Given the description of an element on the screen output the (x, y) to click on. 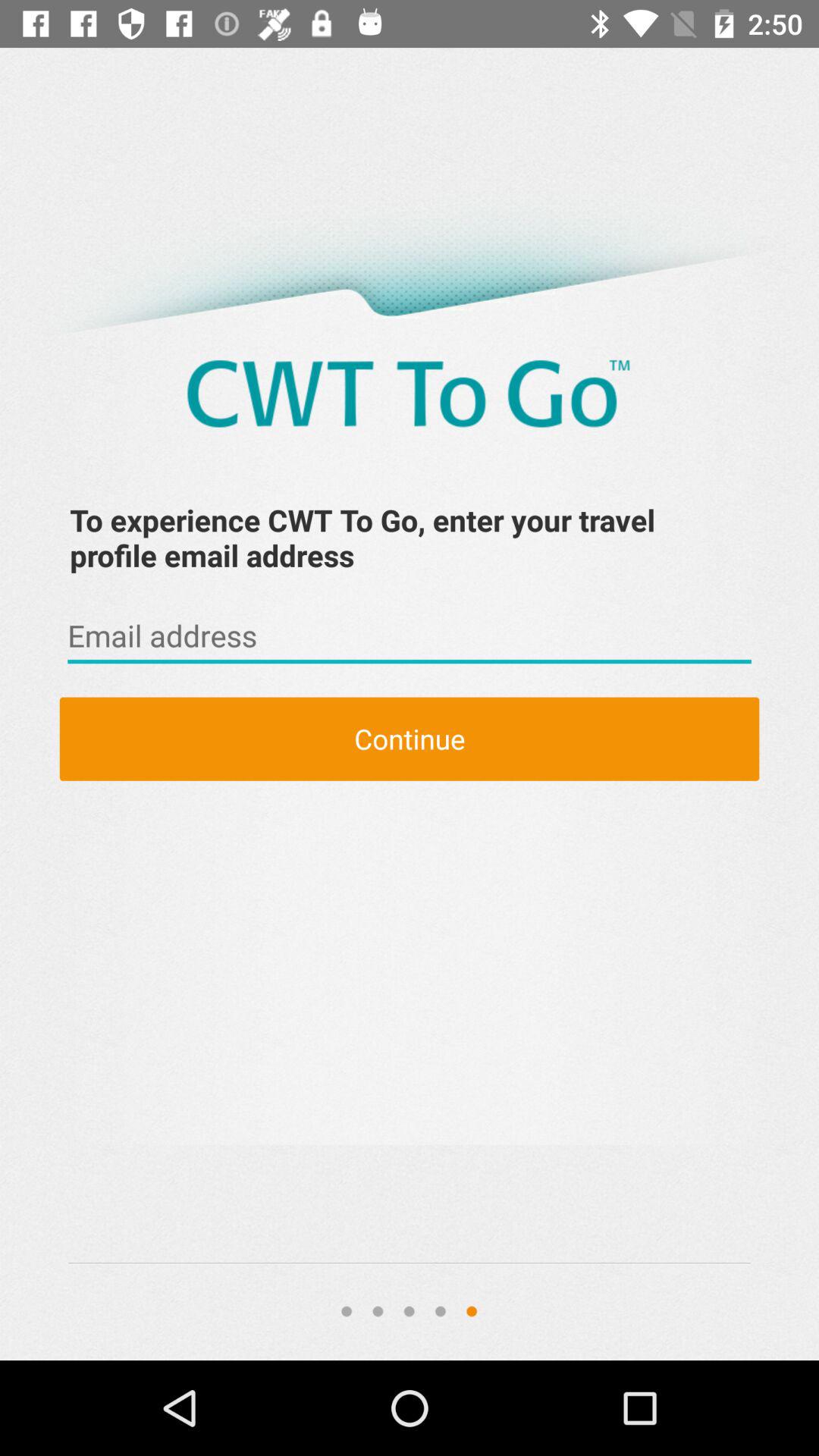
scroll until continue icon (409, 738)
